Given the description of an element on the screen output the (x, y) to click on. 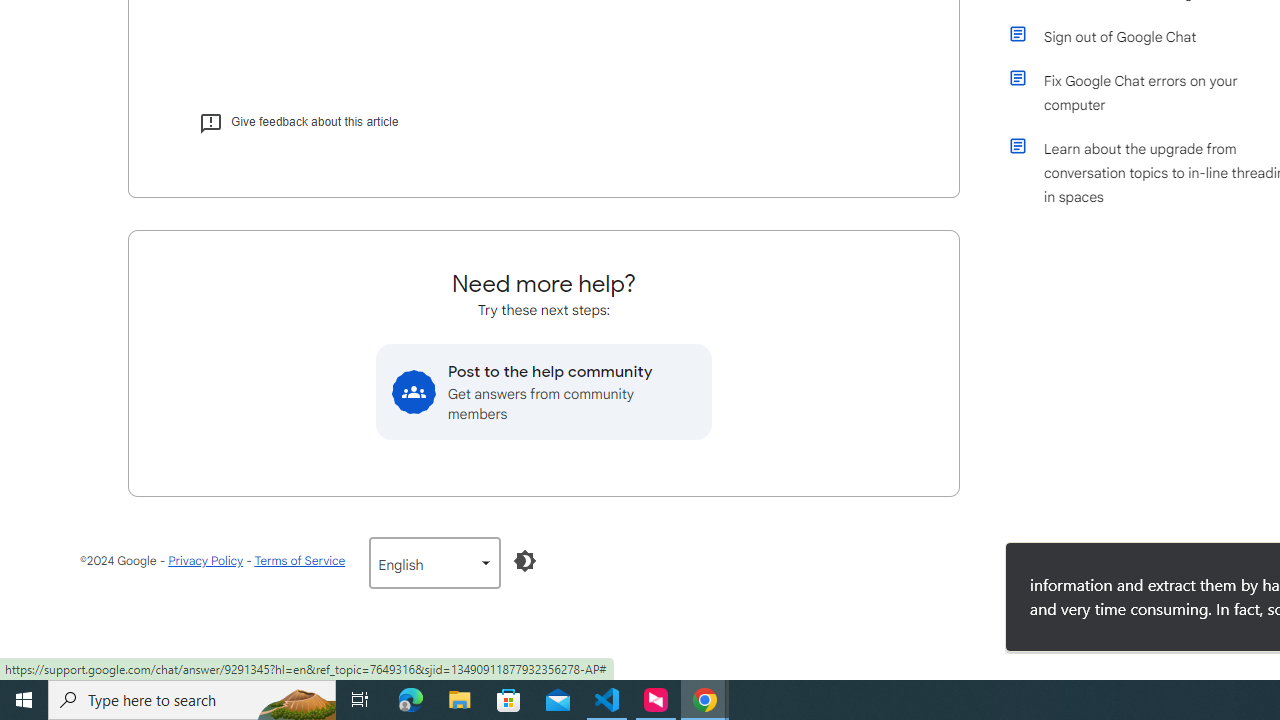
Enable Dark Mode (525, 560)
Give feedback about this article (298, 121)
